Given the description of an element on the screen output the (x, y) to click on. 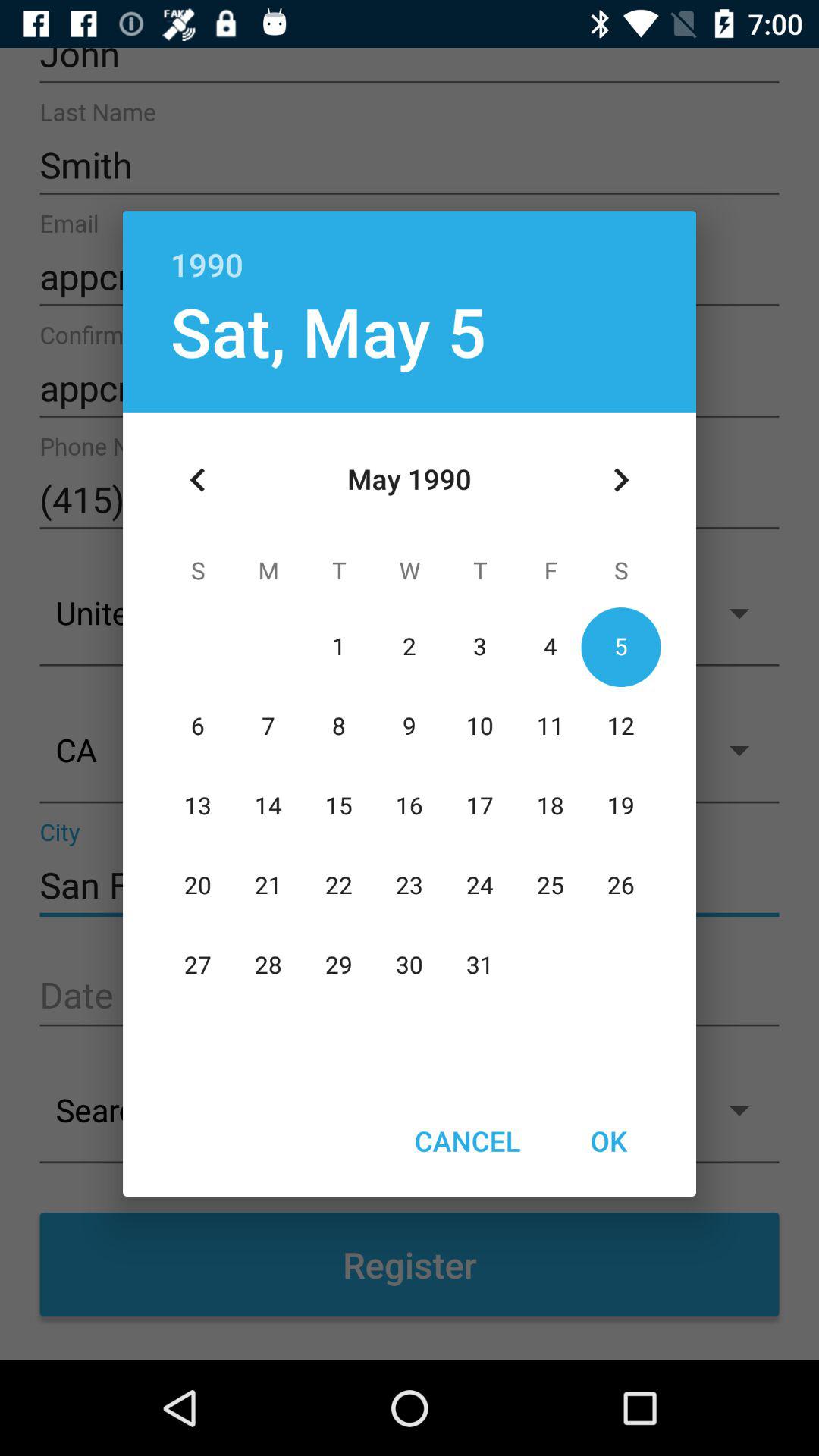
press the 1990 (409, 248)
